Given the description of an element on the screen output the (x, y) to click on. 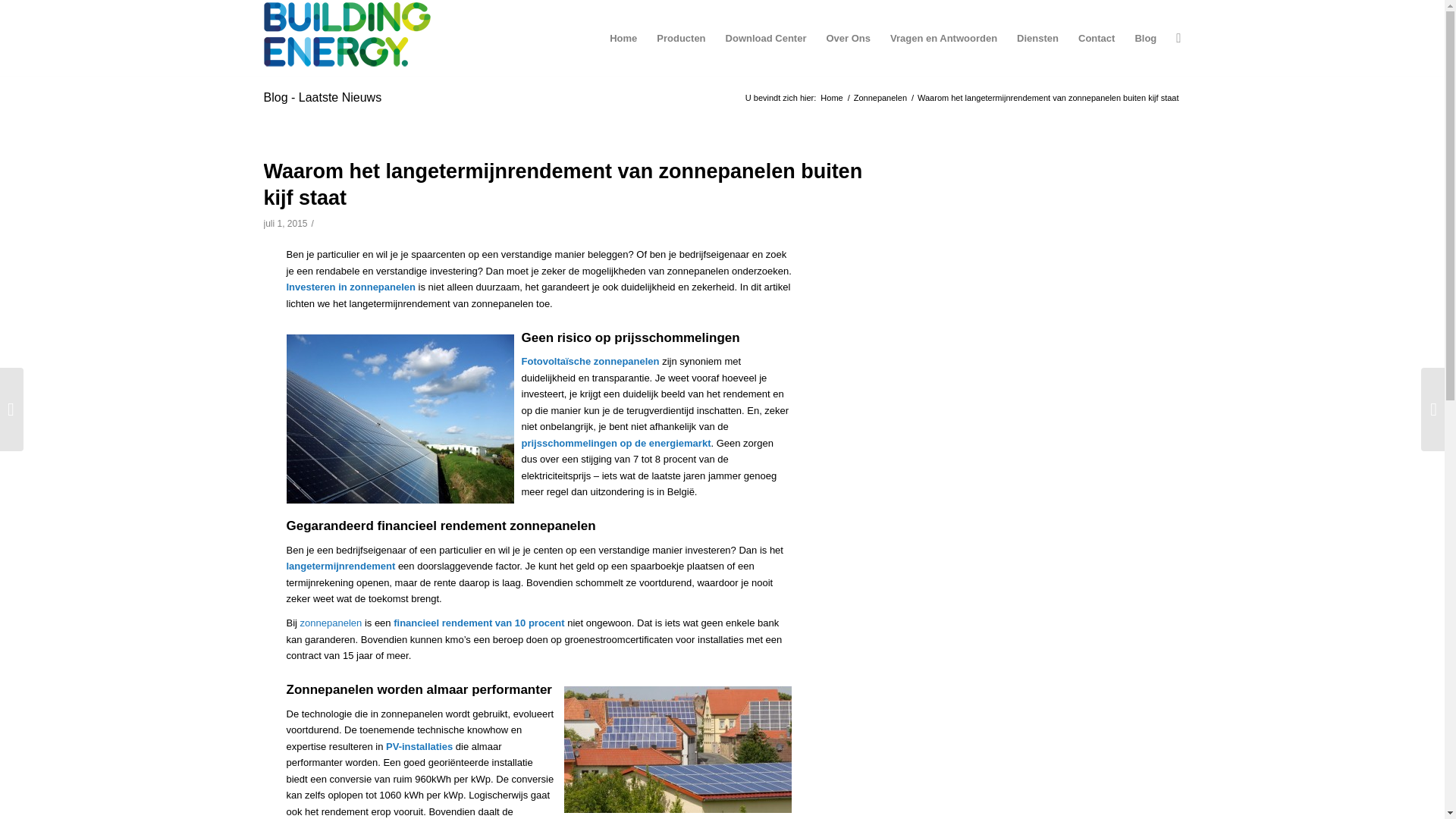
zonnepanelen Element type: text (331, 622)
Diensten Element type: text (1037, 38)
Zonnepanelen Element type: text (880, 97)
Over Ons Element type: text (847, 38)
Blog Element type: text (1145, 38)
Download Center Element type: text (765, 38)
Home Element type: text (831, 97)
Blog - Laatste Nieuws Element type: text (322, 97)
Vragen en Antwoorden Element type: text (943, 38)
Producten Element type: text (680, 38)
Contact Element type: text (1096, 38)
Home Element type: text (622, 38)
